Given the description of an element on the screen output the (x, y) to click on. 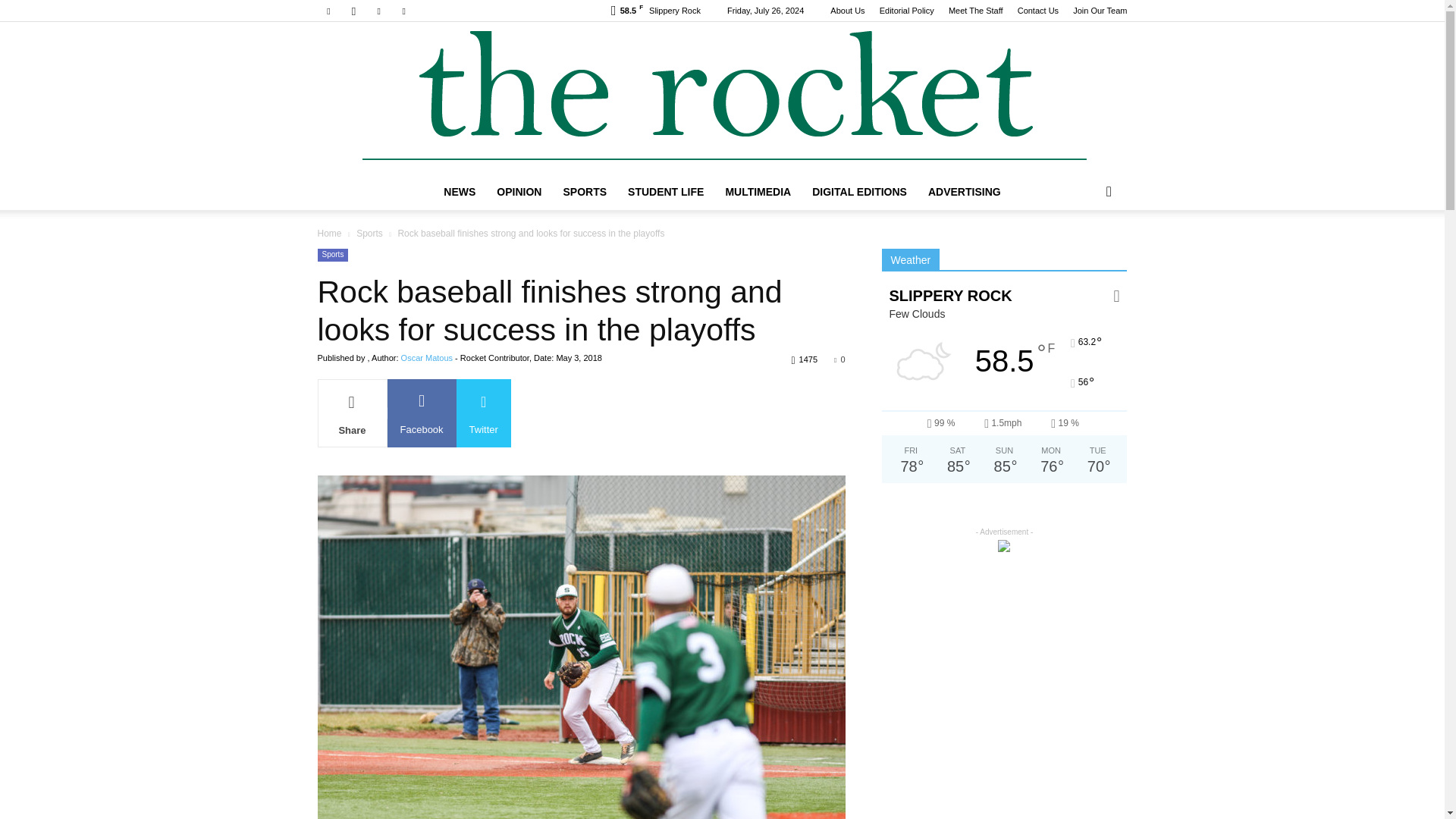
Home (328, 233)
Instagram (353, 10)
Facebook (328, 10)
View all posts in Sports (369, 233)
STUDENT LIFE (665, 191)
Sports (369, 233)
DIGITAL EDITIONS (859, 191)
ADVERTISING (964, 191)
OPINION (518, 191)
Search (1085, 252)
Join Our Team (1099, 10)
About Us (846, 10)
NEWS (459, 191)
Meet The Staff (976, 10)
